Given the description of an element on the screen output the (x, y) to click on. 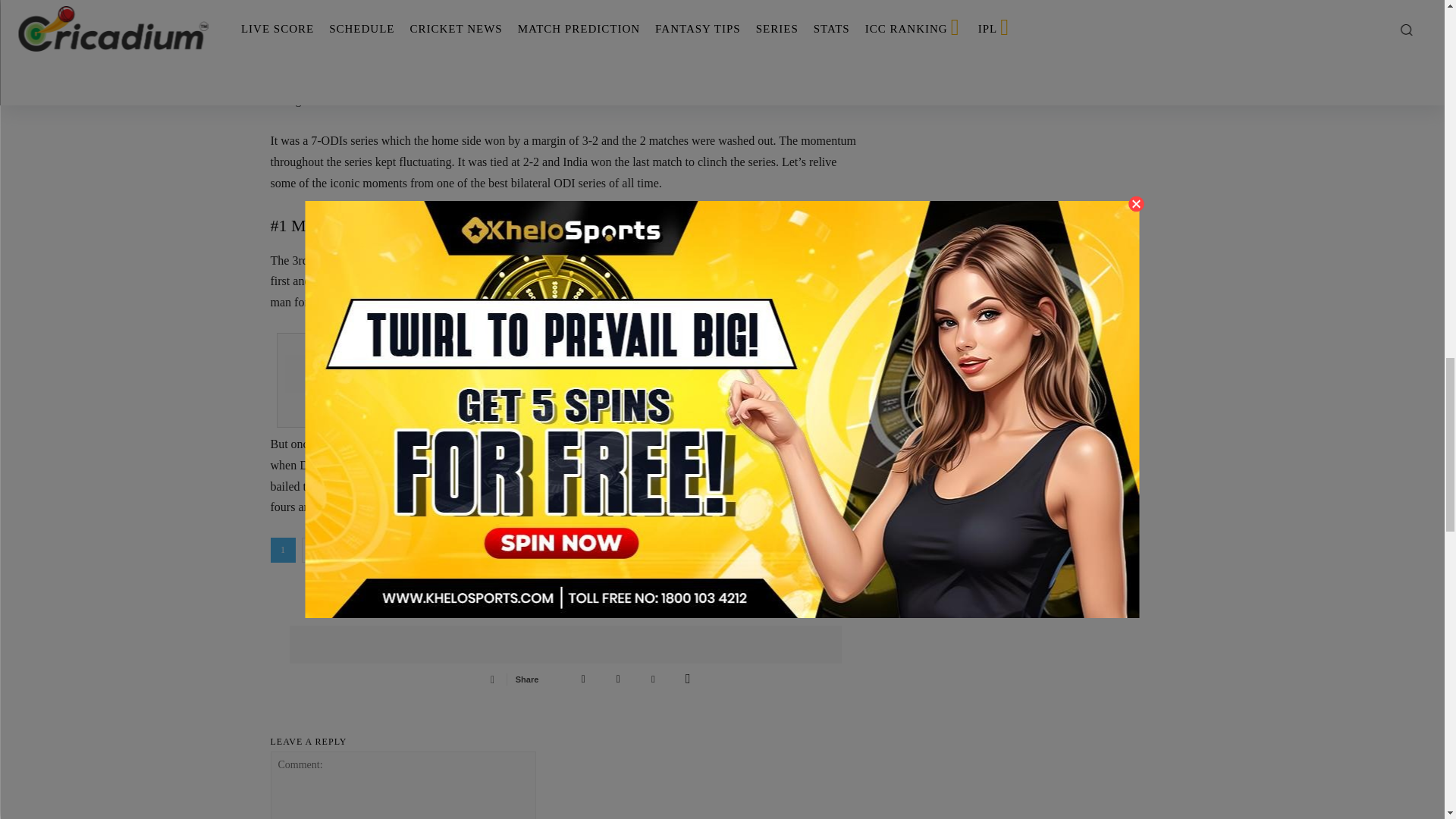
Pinterest (652, 678)
Twitter (617, 678)
WhatsApp (687, 678)
Facebook (582, 678)
